Given the description of an element on the screen output the (x, y) to click on. 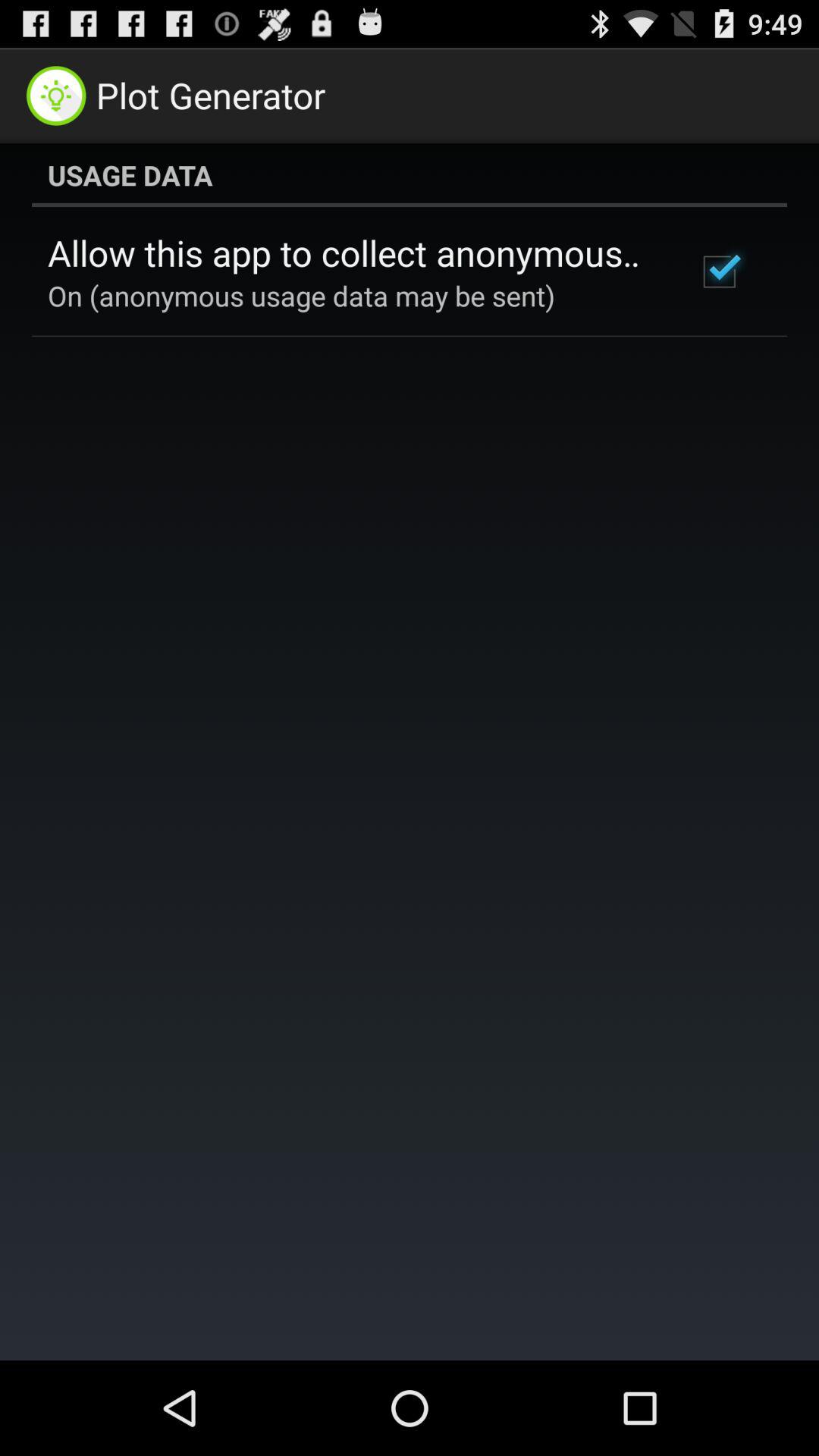
open icon below the usage data icon (719, 271)
